Given the description of an element on the screen output the (x, y) to click on. 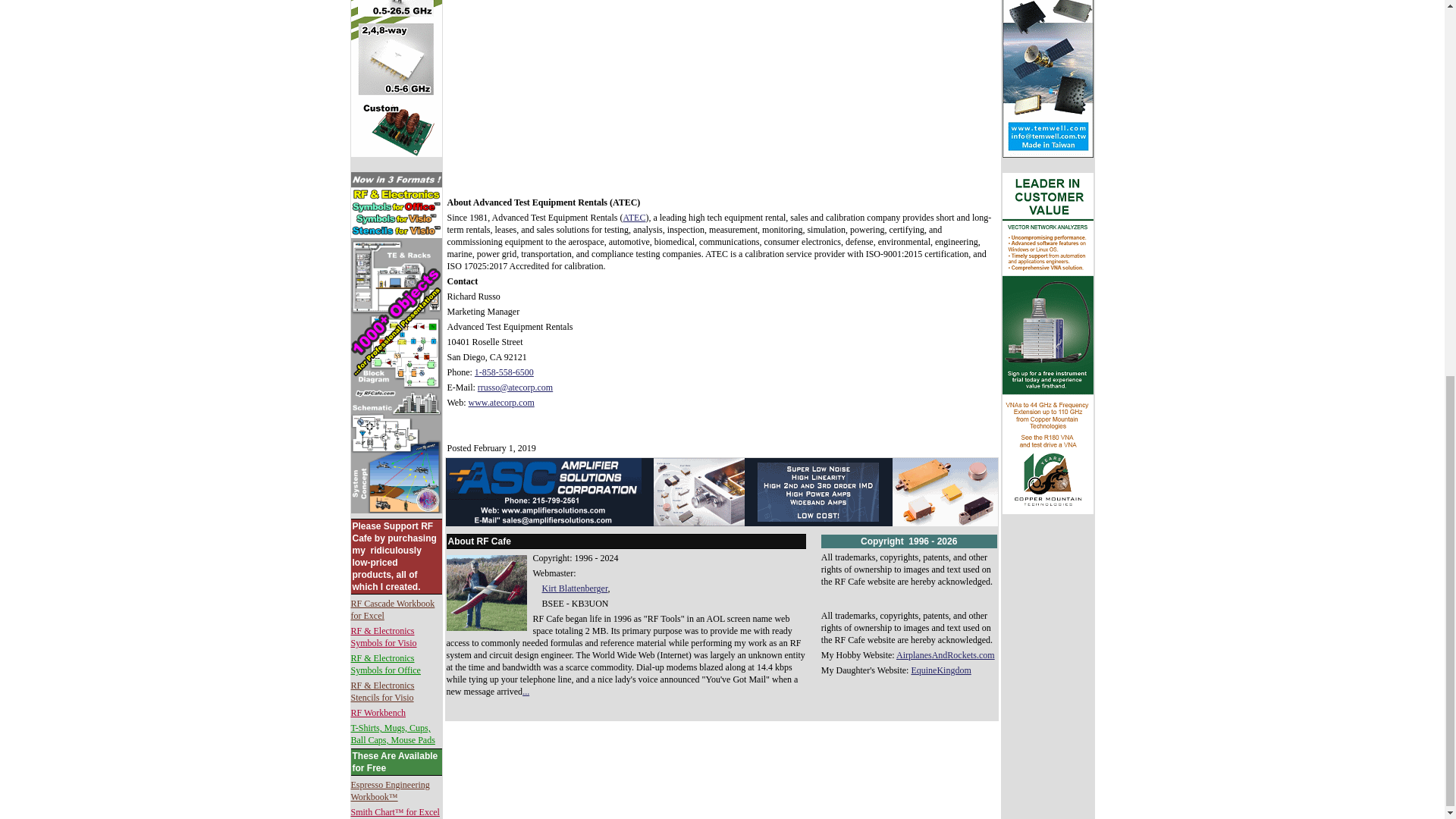
1-858-558-6500 (504, 371)
T-Shirts, Mugs, Cups, Ball Caps, Mouse Pads (391, 733)
RF Workbench (377, 712)
ATEC (634, 217)
RF Cascade Workbook for Excel (391, 609)
